Given the description of an element on the screen output the (x, y) to click on. 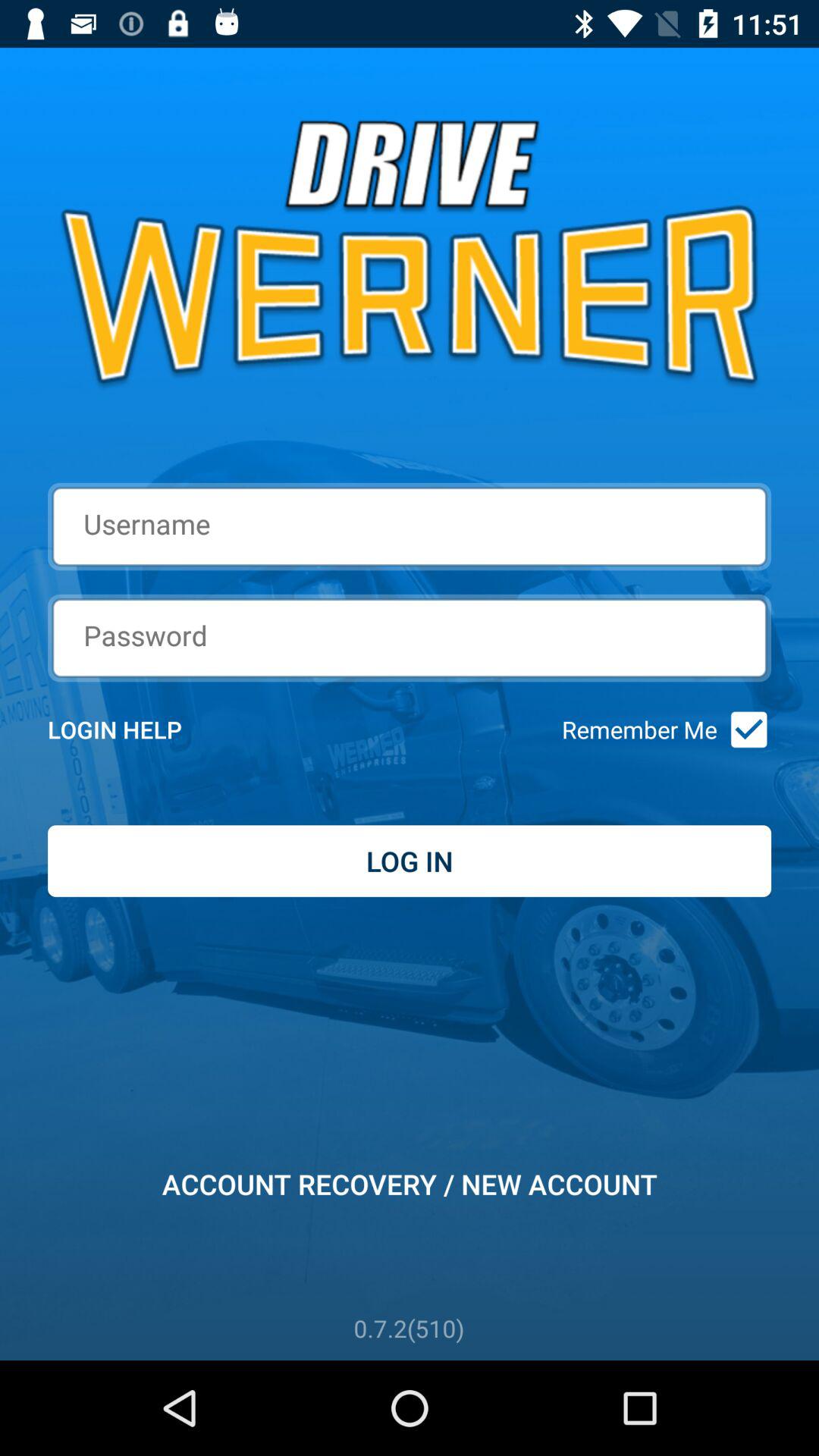
swipe to account recovery new icon (409, 1183)
